Given the description of an element on the screen output the (x, y) to click on. 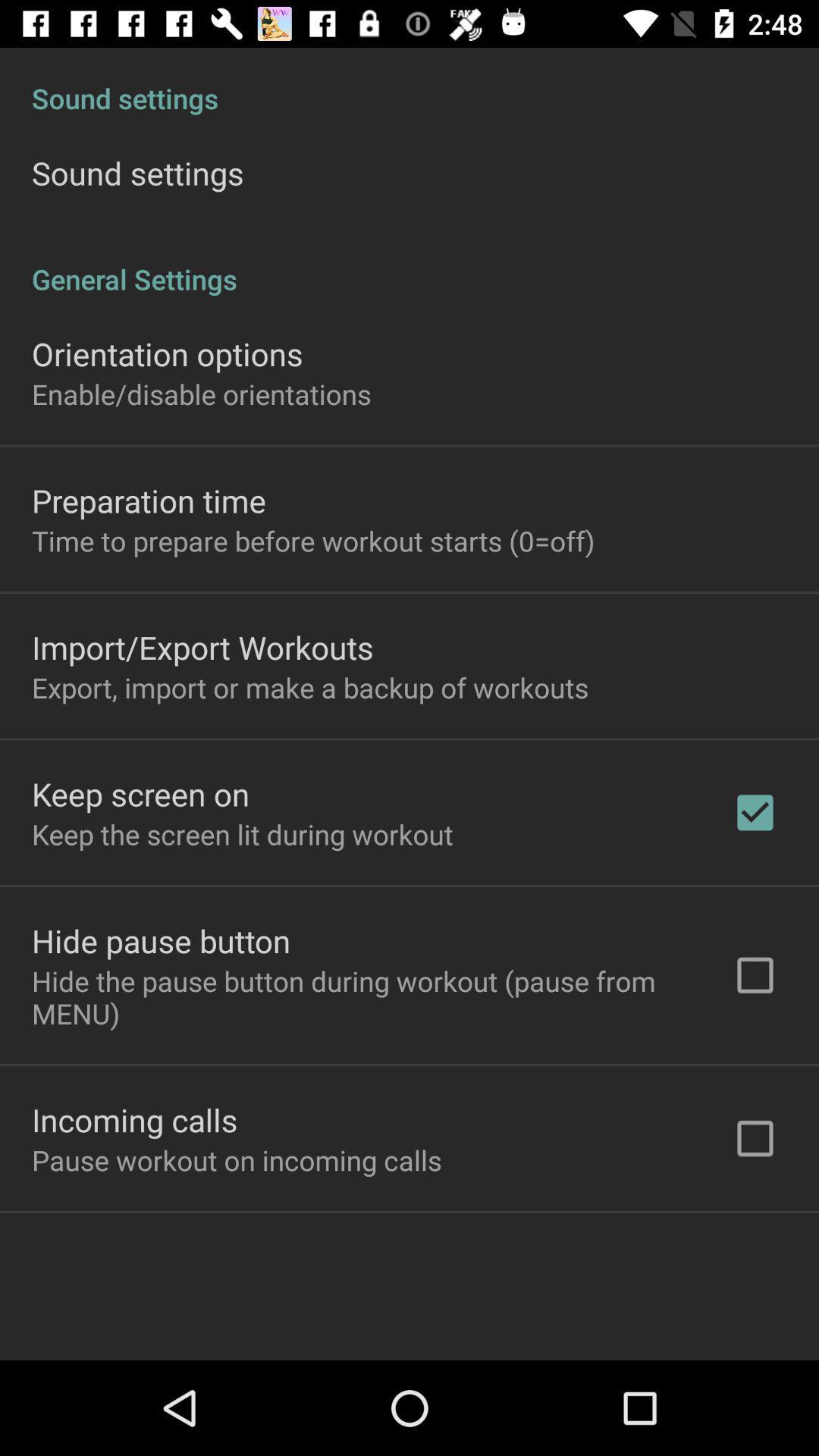
open item above the time to prepare item (148, 500)
